Given the description of an element on the screen output the (x, y) to click on. 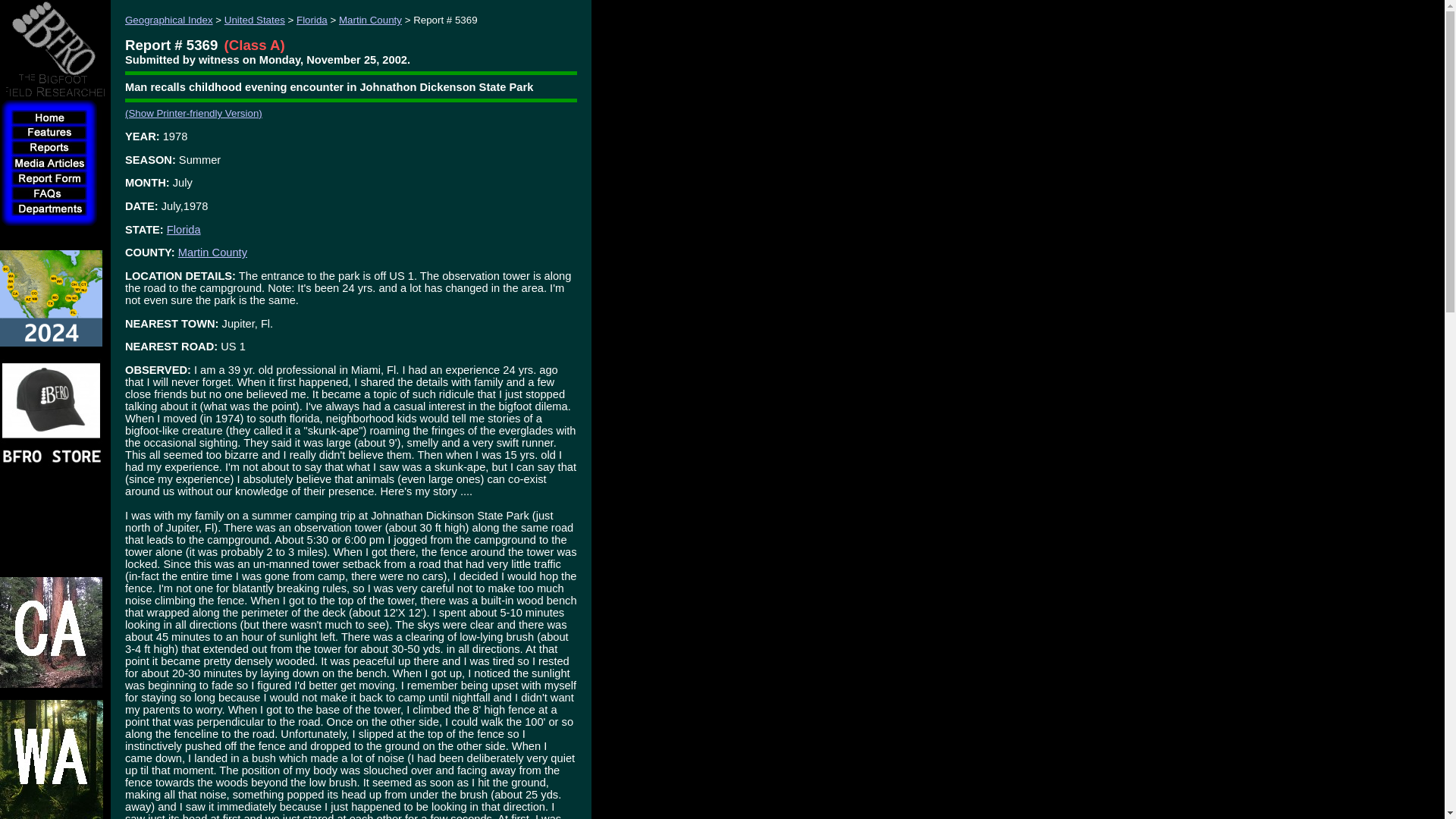
Geographical Index (168, 19)
Florida (183, 229)
United States (254, 19)
Martin County (212, 252)
Florida (312, 19)
Martin County (370, 19)
